Given the description of an element on the screen output the (x, y) to click on. 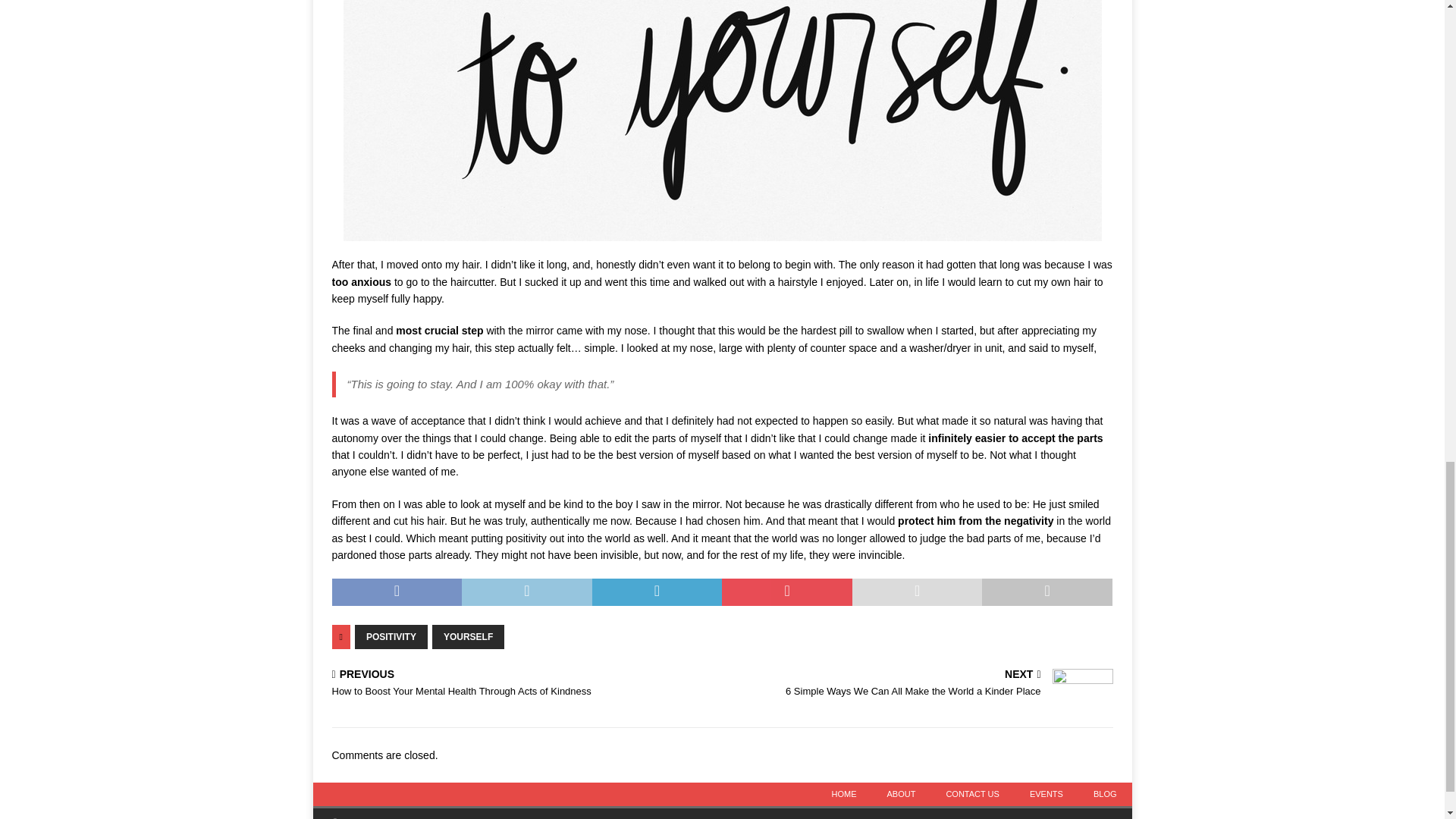
CONTACT US (972, 793)
HOME (842, 793)
BLOG (1105, 793)
ABOUT (922, 684)
POSITIVITY (901, 793)
YOURSELF (391, 636)
EVENTS (467, 636)
